Given the description of an element on the screen output the (x, y) to click on. 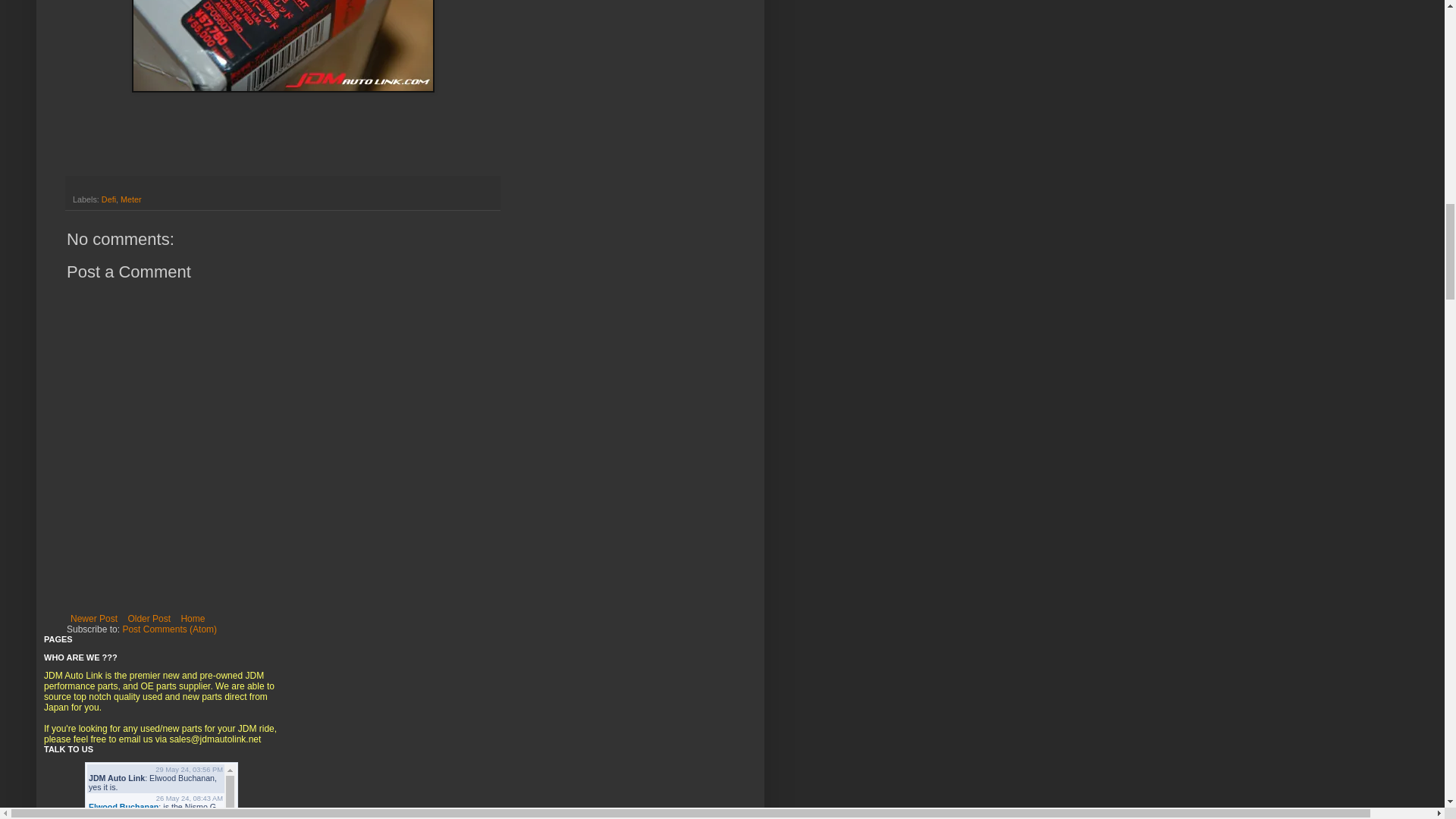
Newer Post (93, 618)
Older Post (148, 618)
Defi (108, 198)
Home (192, 618)
Email Post (78, 185)
Newer Post (93, 618)
Older Post (148, 618)
Meter (130, 198)
